Given the description of an element on the screen output the (x, y) to click on. 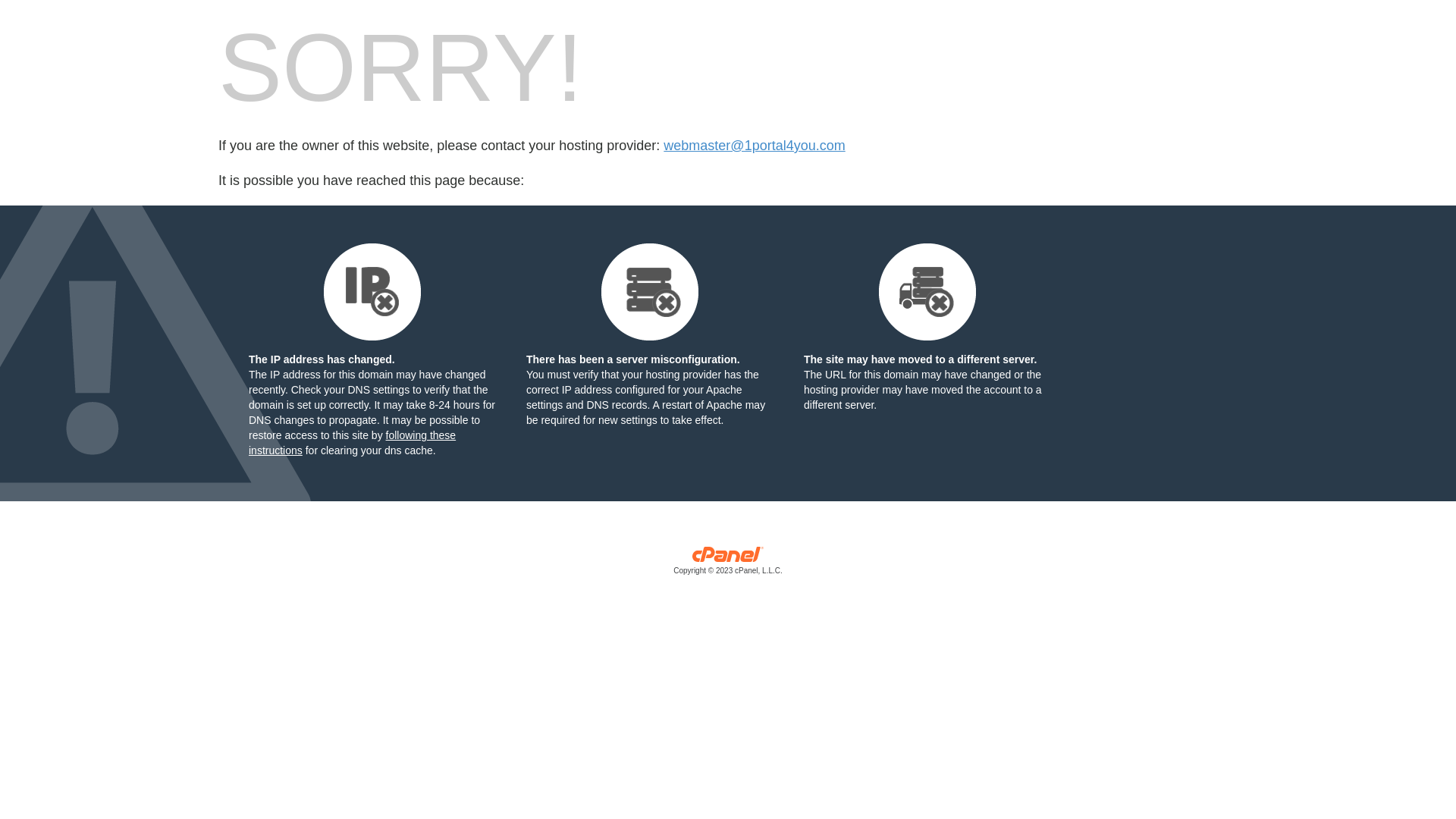
following these instructions Element type: text (351, 442)
webmaster@1portal4you.com Element type: text (753, 145)
